Given the description of an element on the screen output the (x, y) to click on. 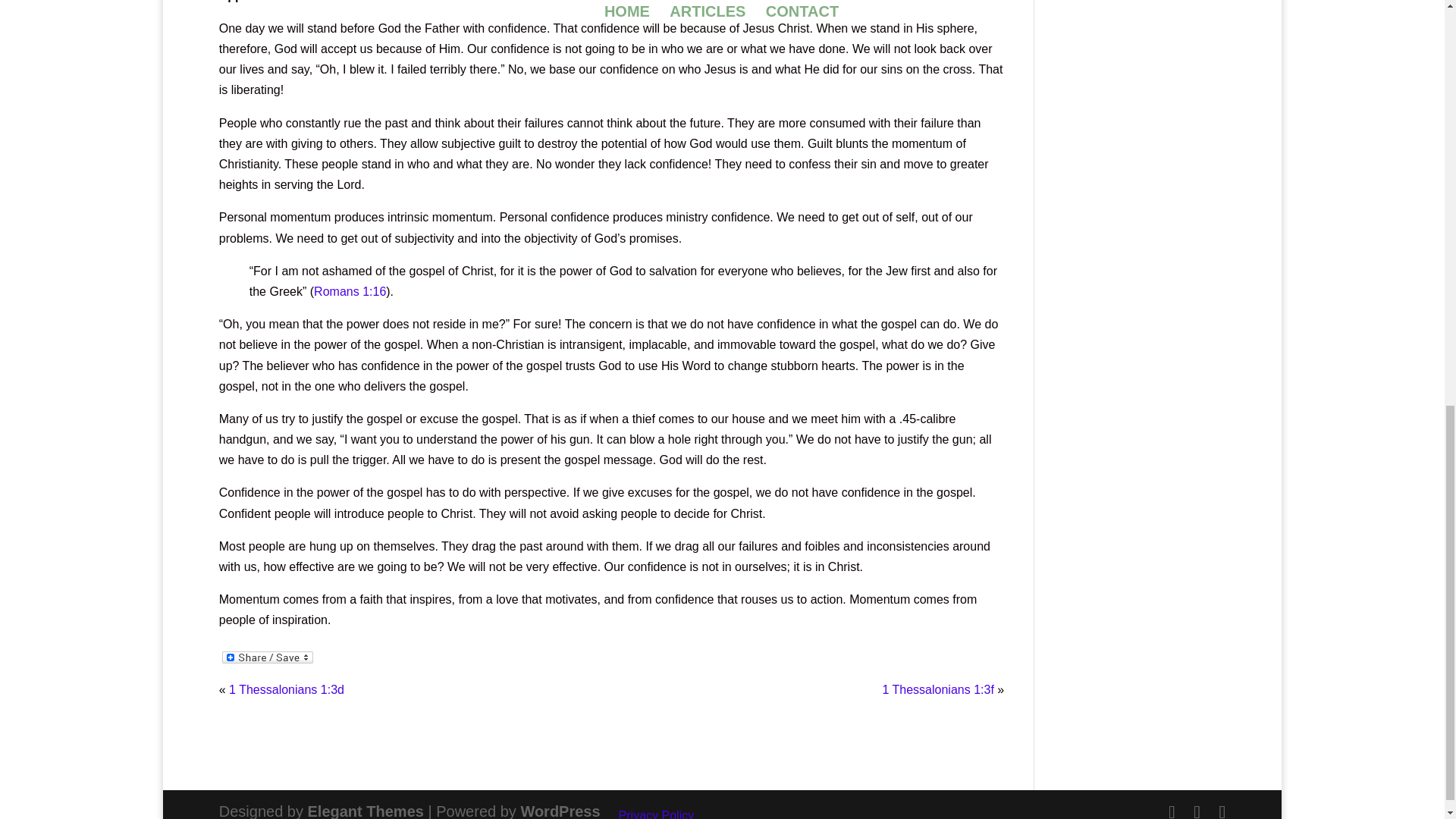
Elegant Themes (365, 811)
Romans 1:16 (349, 291)
Privacy Policy (656, 814)
1 Thessalonians 1:3d (285, 689)
WordPress (559, 811)
1 Thessalonians 1:3f (937, 689)
Privacy Policy (656, 814)
Premium WordPress Themes (365, 811)
